Given the description of an element on the screen output the (x, y) to click on. 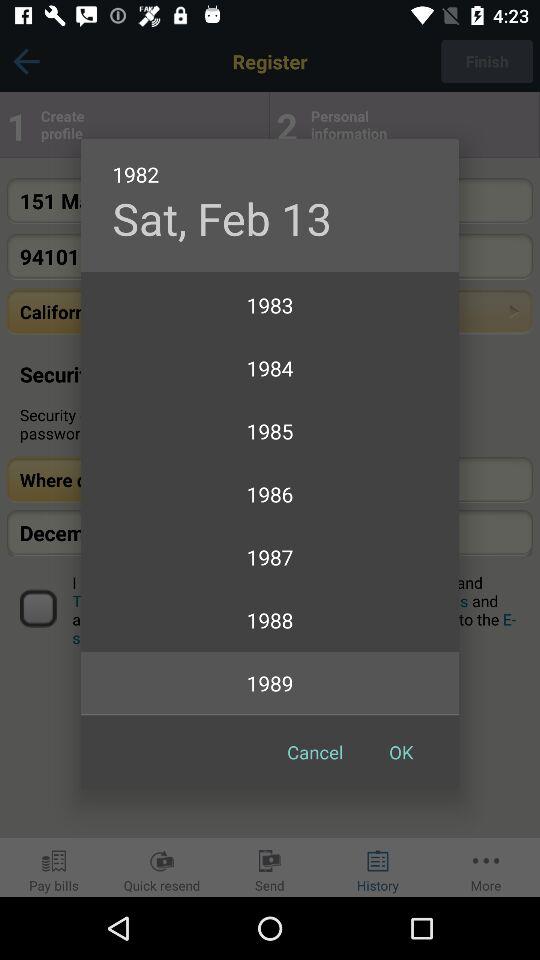
turn off button next to the cancel button (401, 751)
